Given the description of an element on the screen output the (x, y) to click on. 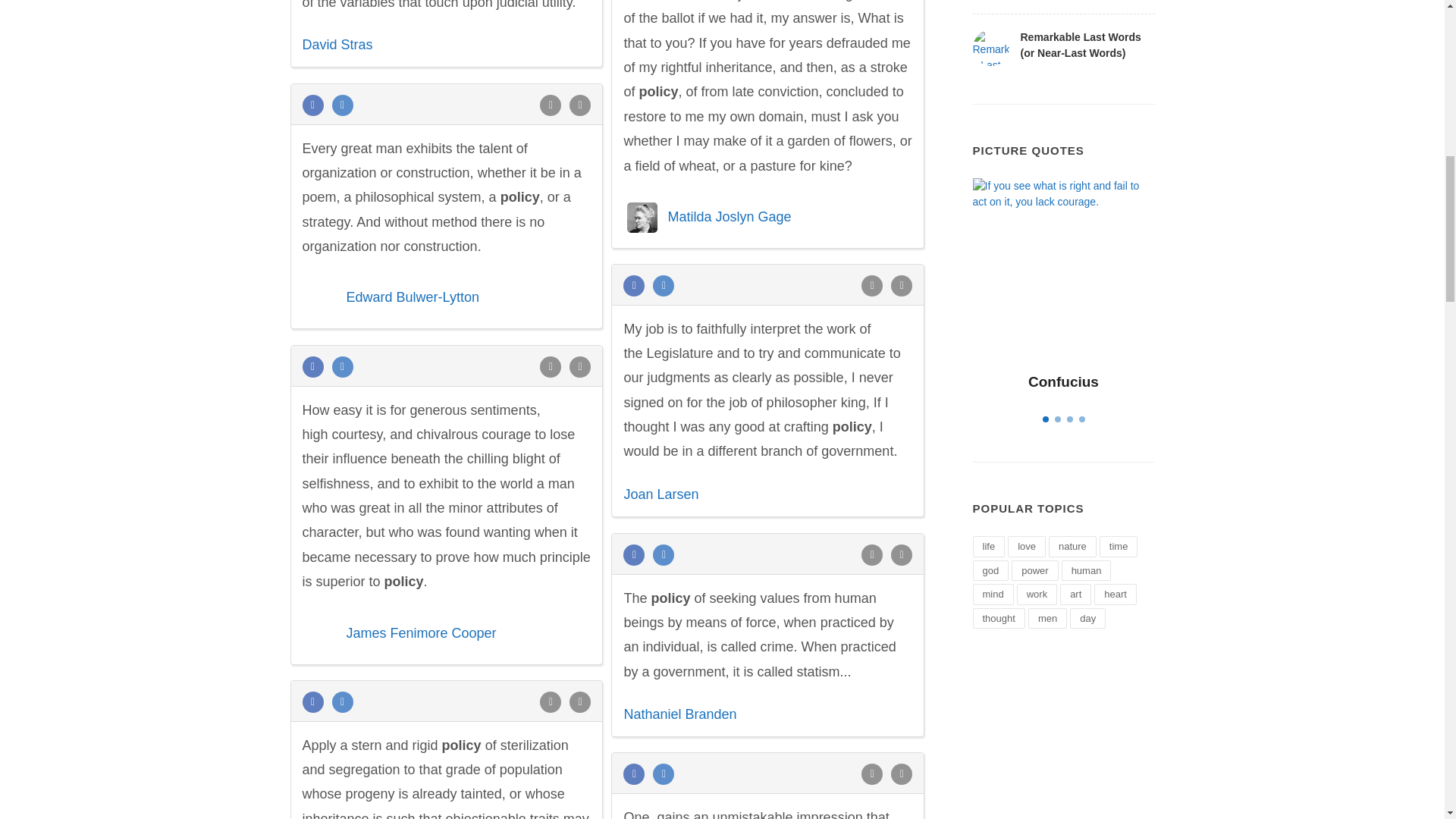
David Stras (336, 44)
